Given the description of an element on the screen output the (x, y) to click on. 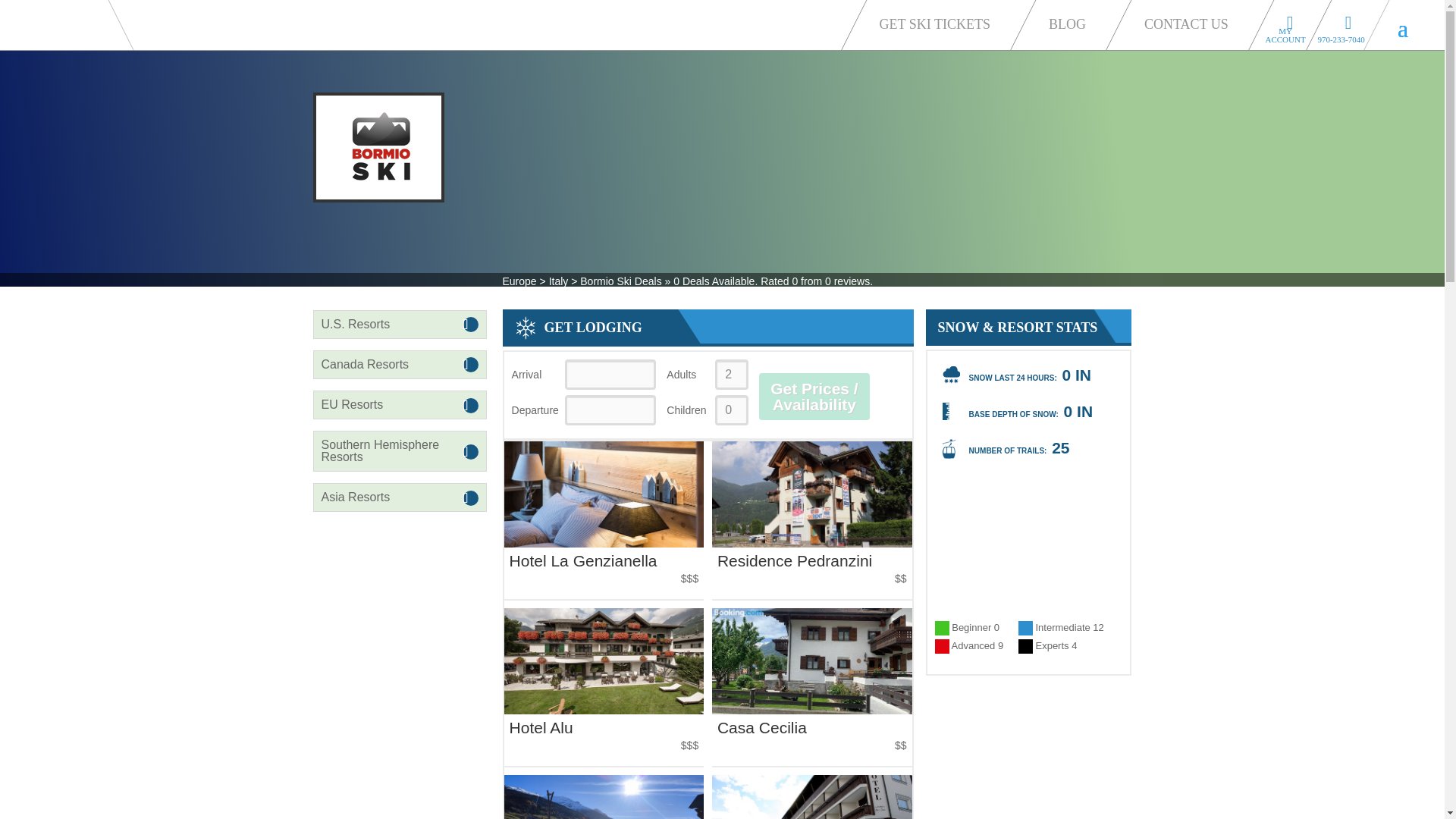
Go to Italy. (558, 281)
CONTACT US (1190, 22)
BLOG (1071, 22)
0 (731, 409)
2 (731, 374)
Europe (518, 281)
Italy (558, 281)
Go to Europe. (518, 281)
GET SKI TICKETS (938, 22)
